Given the description of an element on the screen output the (x, y) to click on. 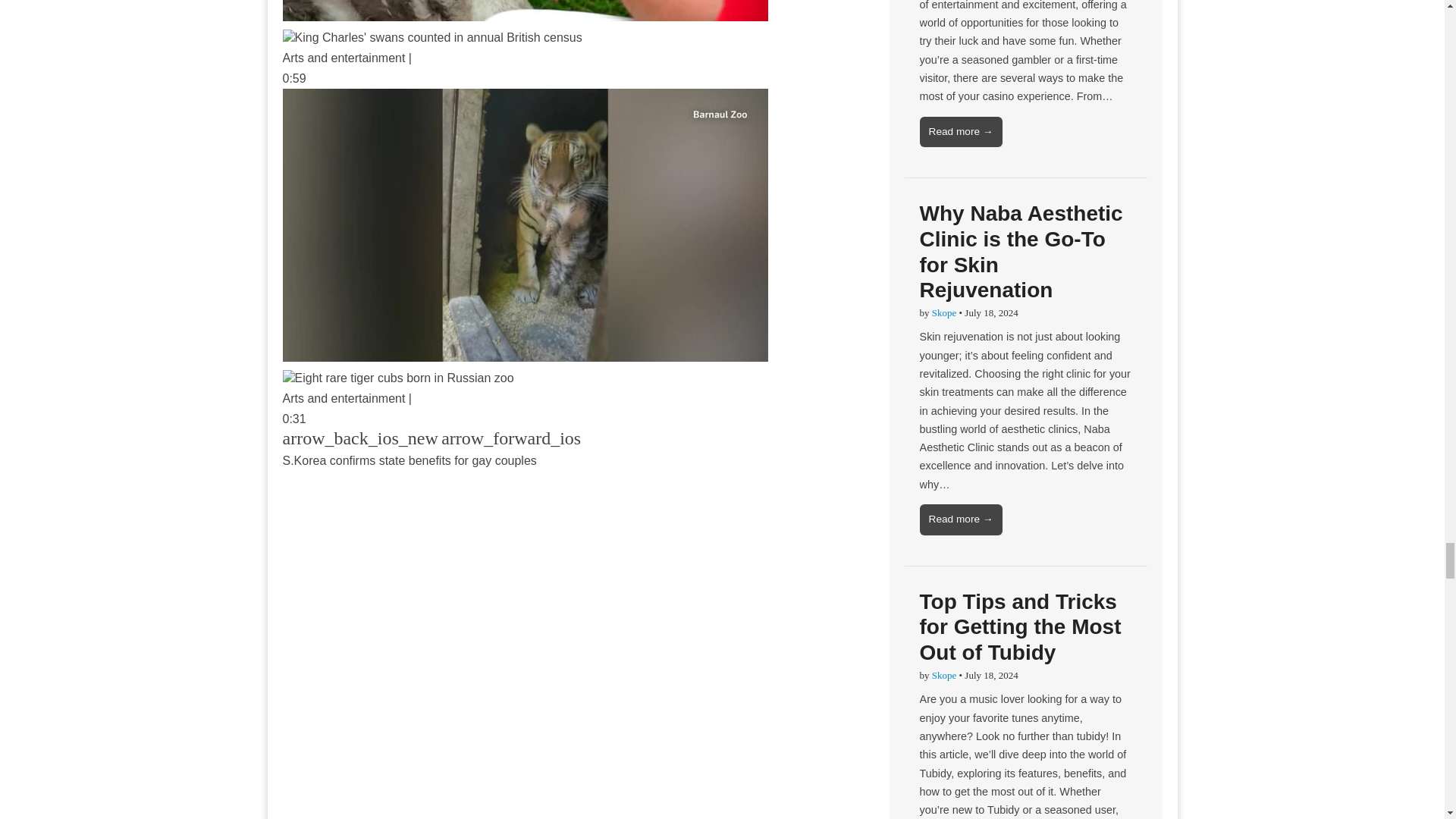
Posts by Skope (943, 312)
Posts by Skope (943, 674)
